Given the description of an element on the screen output the (x, y) to click on. 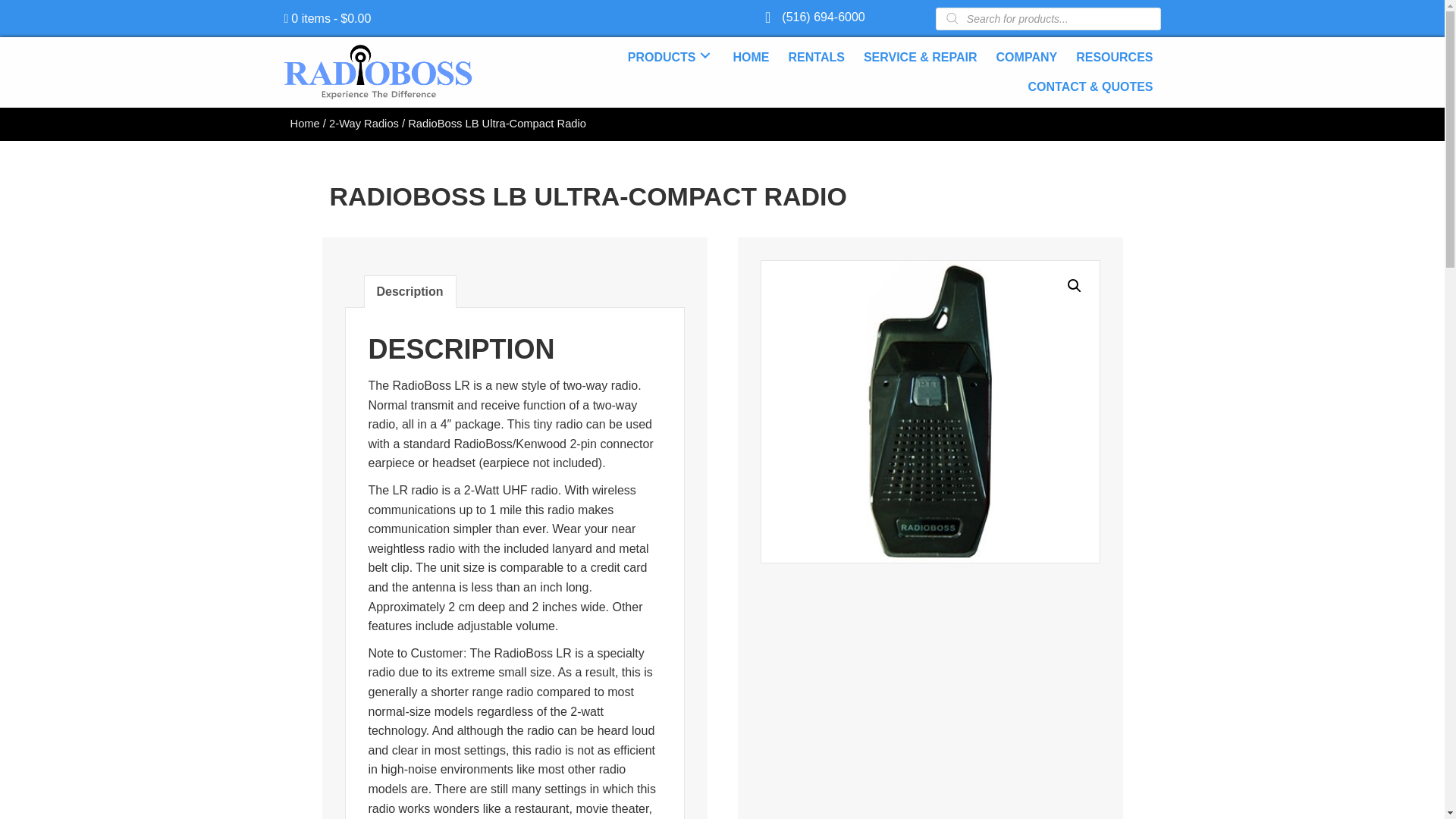
HOME (751, 54)
2-Way Radios (363, 123)
LBLQ (929, 411)
Description (408, 291)
Start shopping (327, 18)
RADIOBOSS LOGO - FINAL- (377, 72)
Home (303, 123)
PRODUCTS (671, 54)
COMPANY (1026, 54)
RENTALS (815, 54)
RESOURCES (1114, 54)
